Given the description of an element on the screen output the (x, y) to click on. 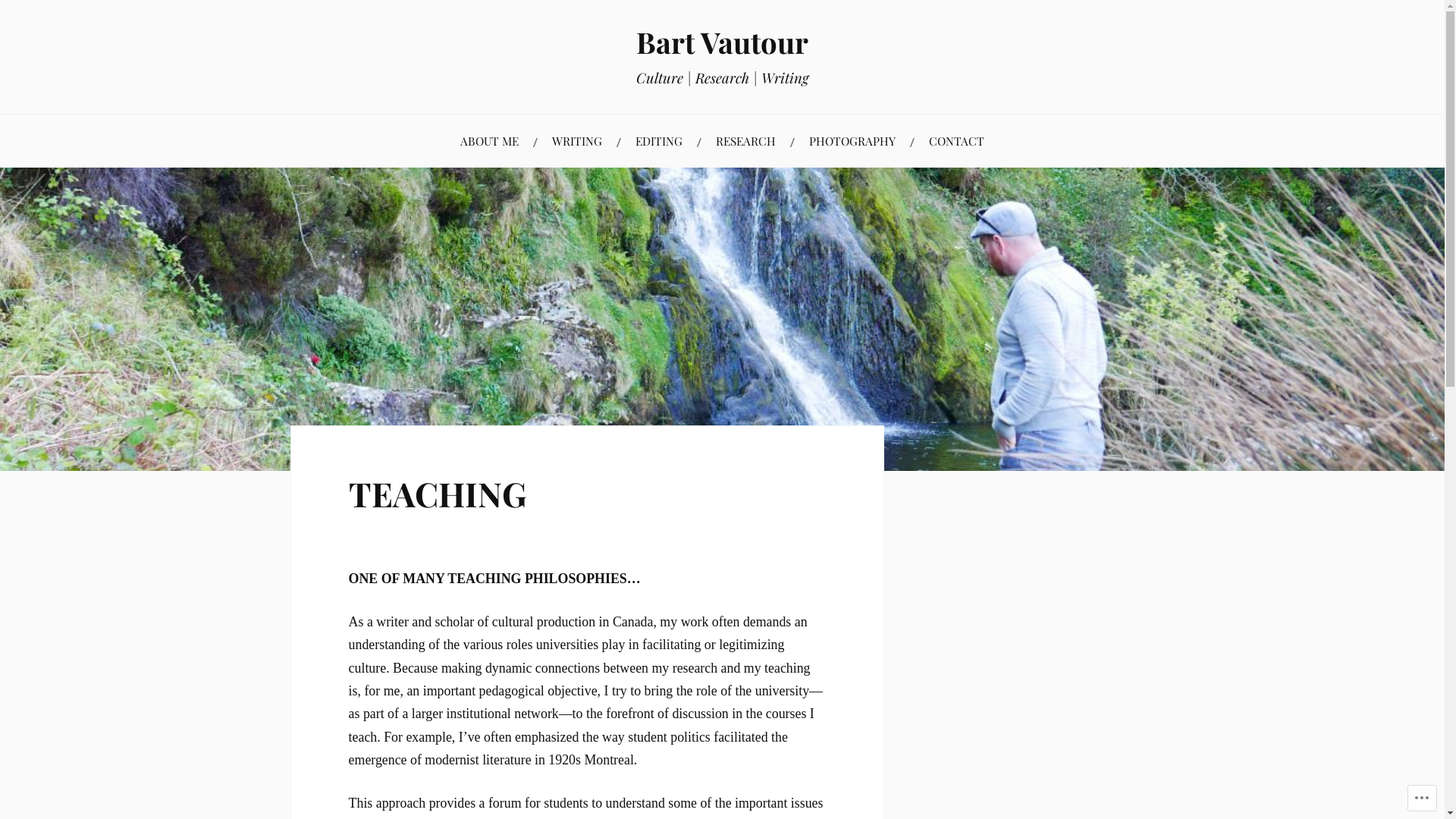
RESEARCH Element type: text (745, 140)
Bart Vautour Element type: text (722, 41)
ABOUT ME Element type: text (489, 140)
EDITING Element type: text (658, 140)
PHOTOGRAPHY Element type: text (852, 140)
WRITING Element type: text (577, 140)
CONTACT Element type: text (956, 140)
